Given the description of an element on the screen output the (x, y) to click on. 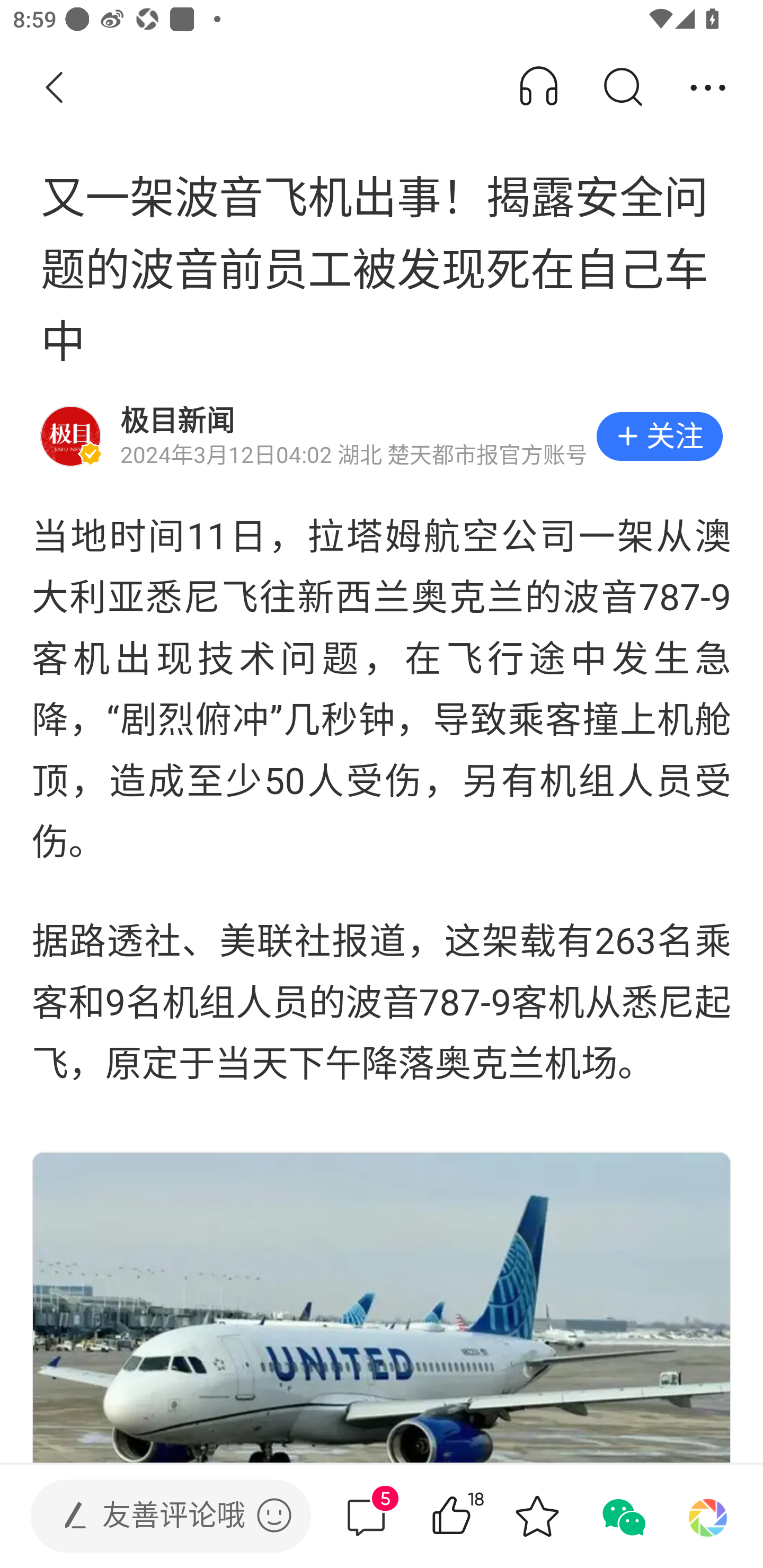
搜索  (622, 87)
分享  (707, 87)
 返回 (54, 87)
极目新闻 2024年3月12日04:02 湖北 楚天都市报官方账号  关注 (381, 436)
 关注 (659, 436)
新闻图片 (381, 1306)
发表评论  友善评论哦 发表评论  (155, 1516)
5评论  5 评论 (365, 1516)
18赞 (476, 1516)
收藏  (536, 1516)
分享到微信  (622, 1516)
分享到朋友圈 (707, 1516)
 (274, 1515)
